Given the description of an element on the screen output the (x, y) to click on. 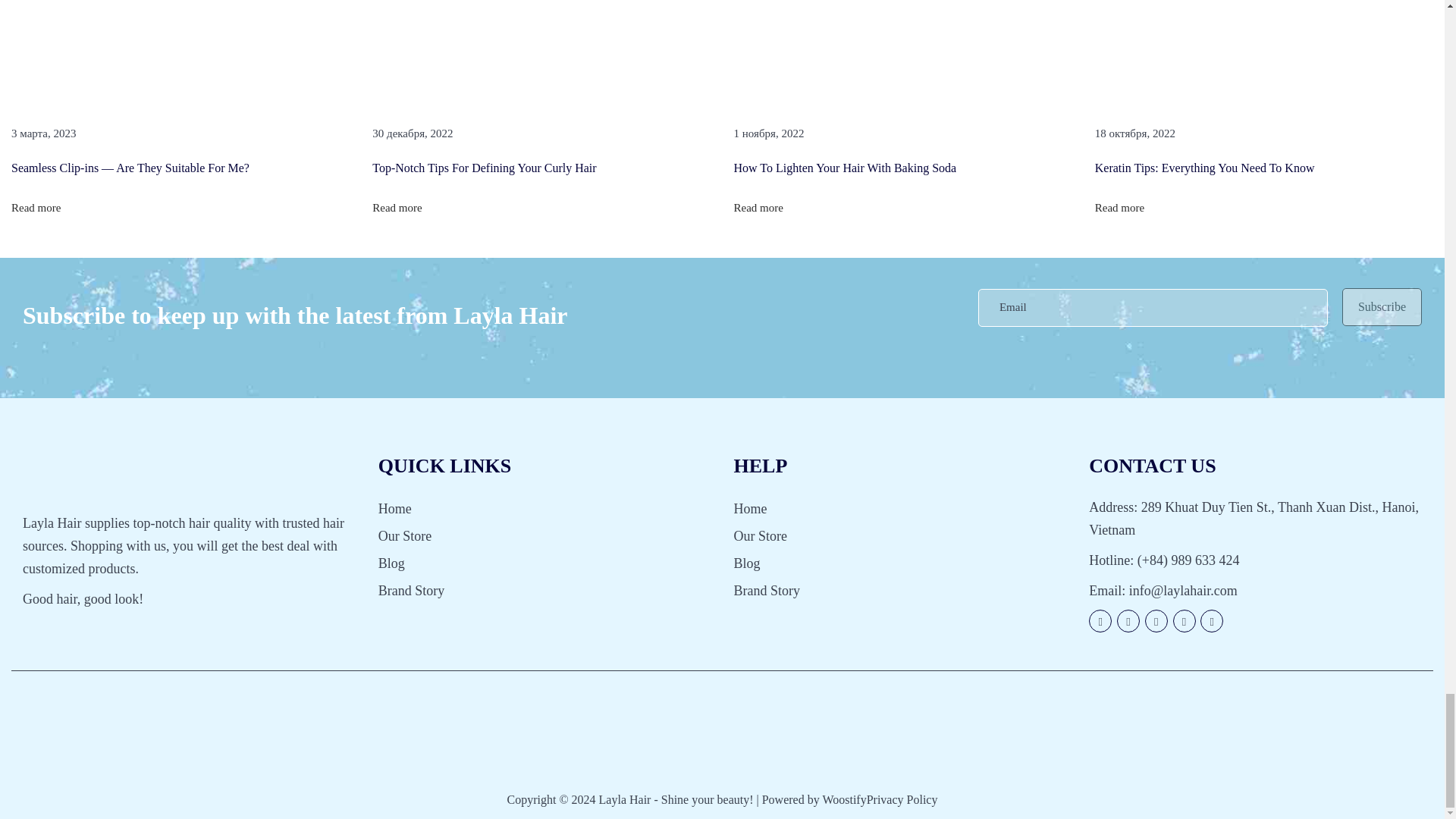
Subscribe (1382, 306)
